Given the description of an element on the screen output the (x, y) to click on. 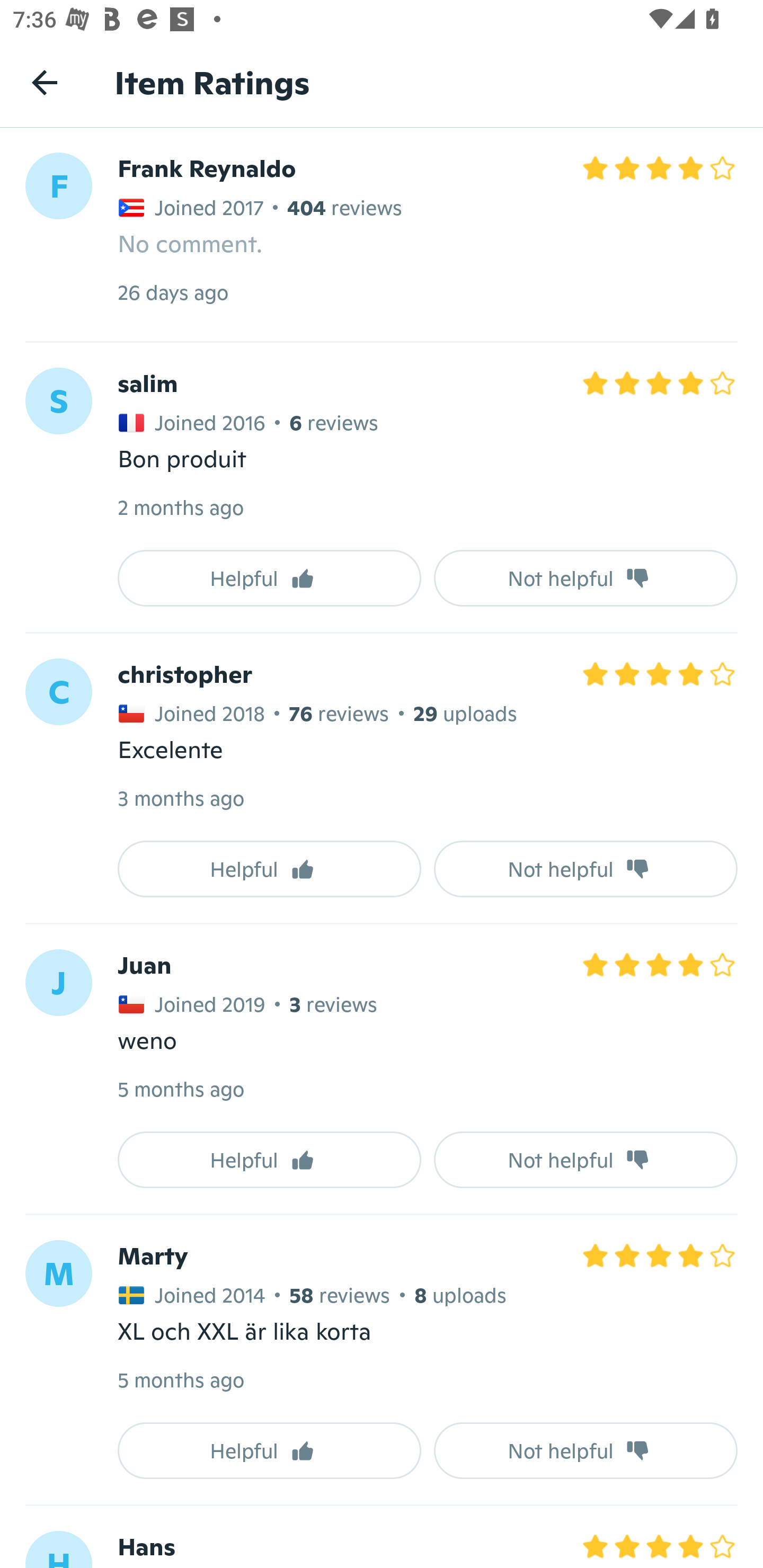
Navigate up (44, 82)
F (58, 185)
Frank Reynaldo (206, 168)
26 days ago (172, 292)
S (58, 400)
salim (147, 382)
2 months ago (180, 506)
Helpful (269, 578)
Not helpful (585, 578)
C (58, 691)
christopher (184, 673)
3 months ago (180, 798)
Helpful (269, 868)
Not helpful (585, 868)
J (58, 982)
Juan (144, 964)
5 months ago (180, 1088)
Helpful (269, 1160)
Not helpful (585, 1160)
M (58, 1273)
Marty (152, 1255)
5 months ago (180, 1379)
Helpful (269, 1450)
Not helpful (585, 1450)
Hans (146, 1546)
